Given the description of an element on the screen output the (x, y) to click on. 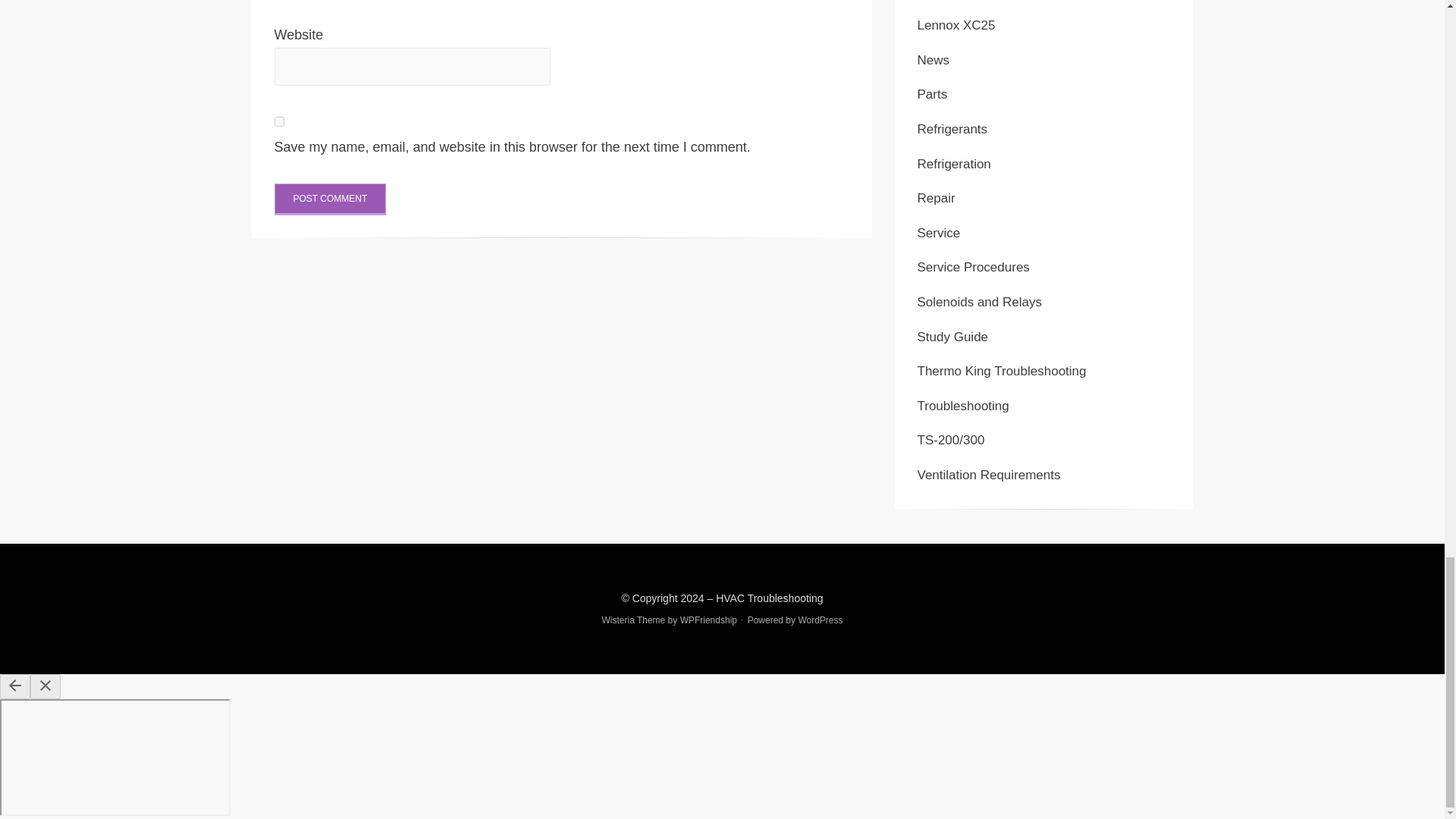
Post Comment (331, 199)
Post Comment (331, 199)
yes (279, 121)
WordPress (820, 620)
WPFriendship (707, 620)
Lennox XC25 (956, 25)
News (933, 60)
